Given the description of an element on the screen output the (x, y) to click on. 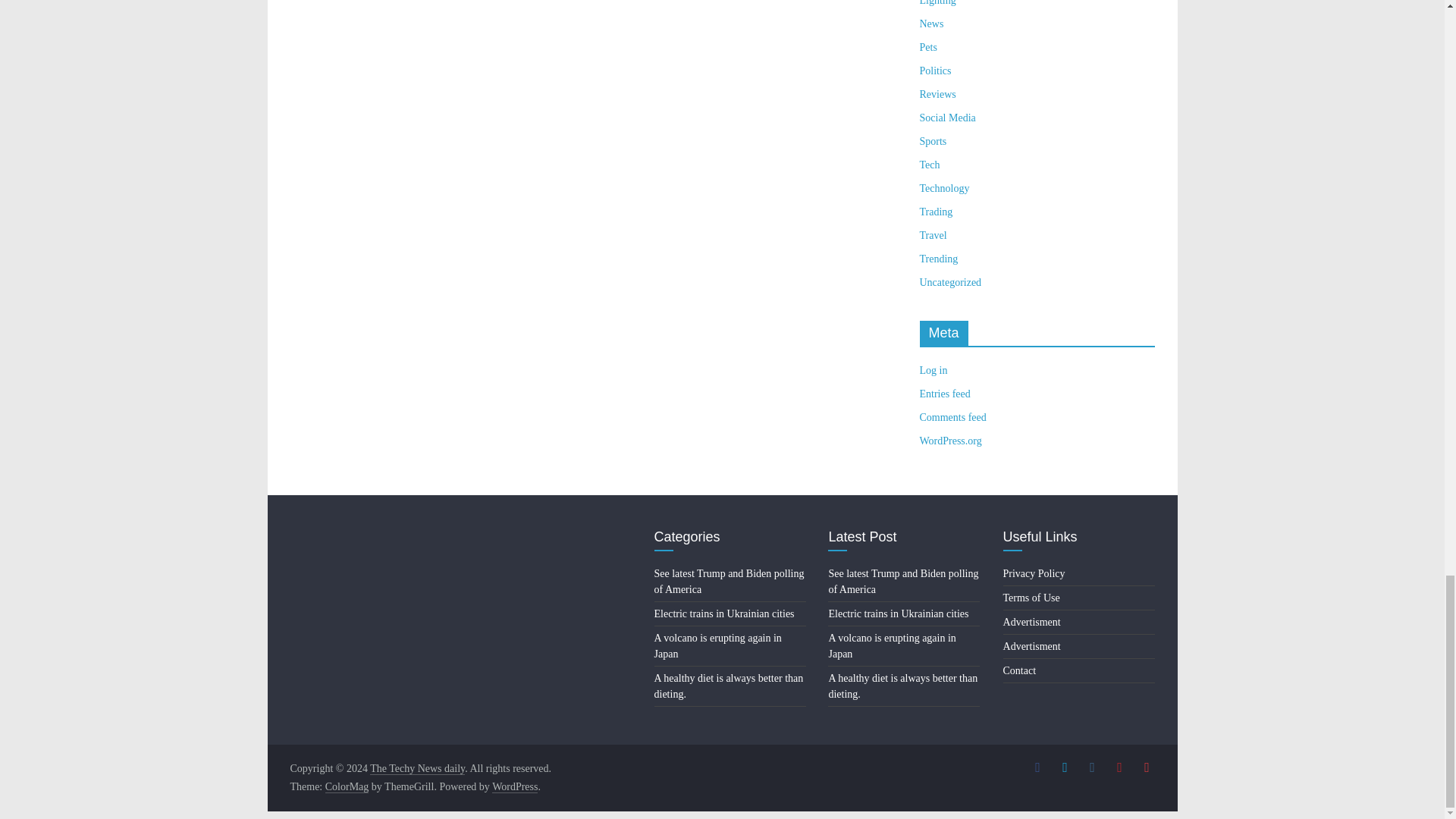
ColorMag (346, 787)
WordPress (514, 787)
The Techy News daily (416, 768)
